Given the description of an element on the screen output the (x, y) to click on. 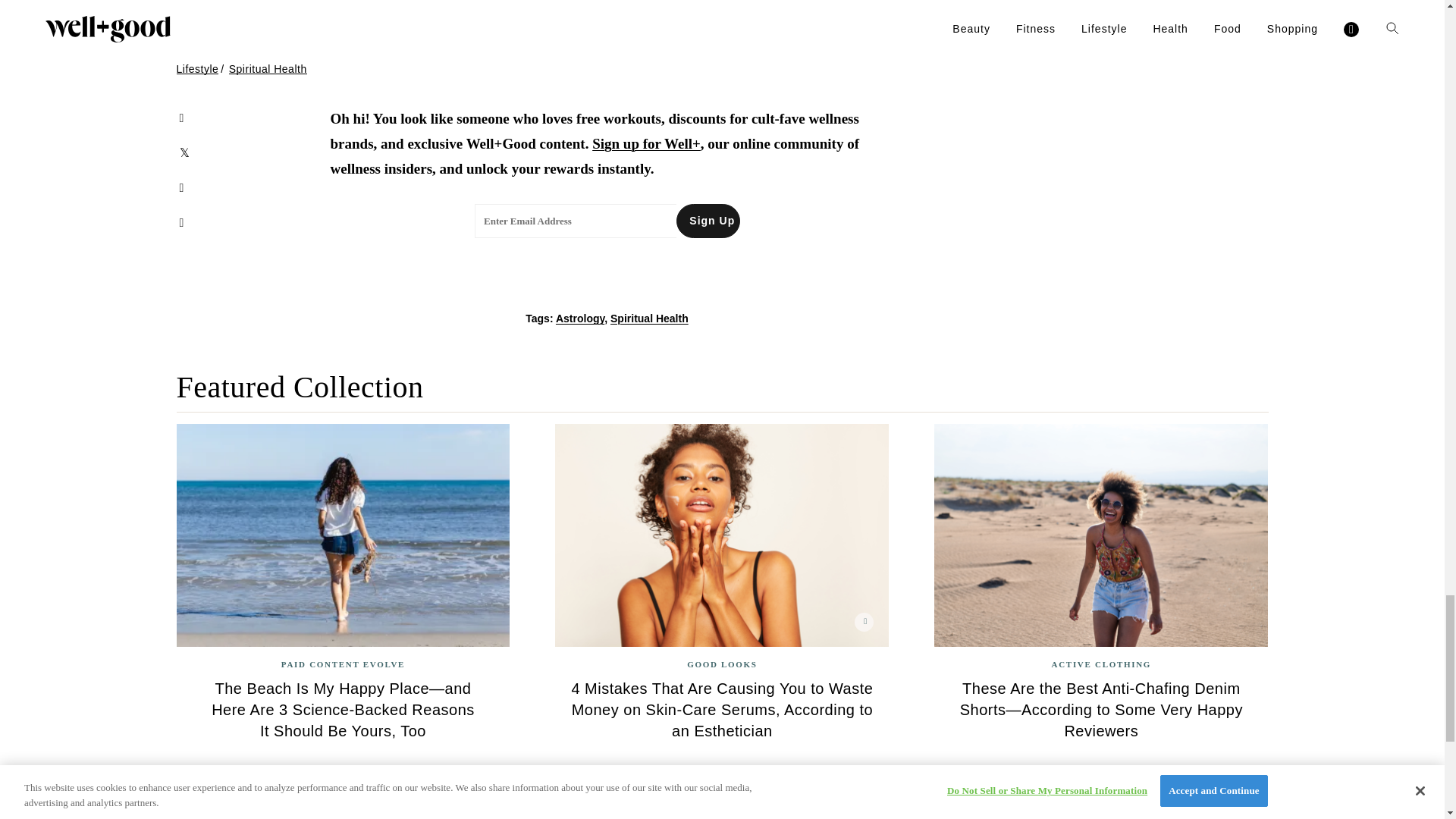
Sign Up (708, 220)
